Given the description of an element on the screen output the (x, y) to click on. 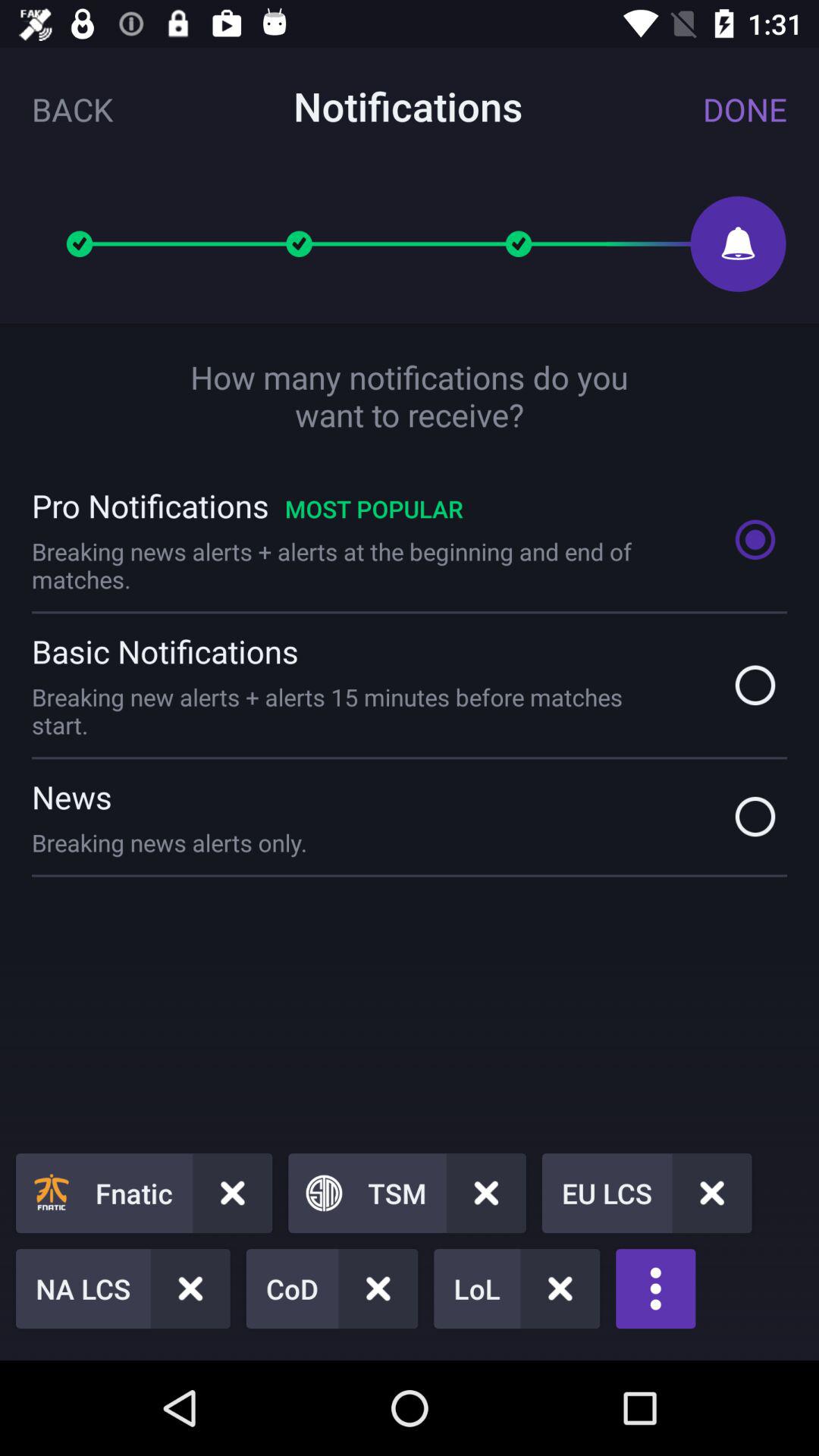
launch back at the top left corner (72, 108)
